Given the description of an element on the screen output the (x, y) to click on. 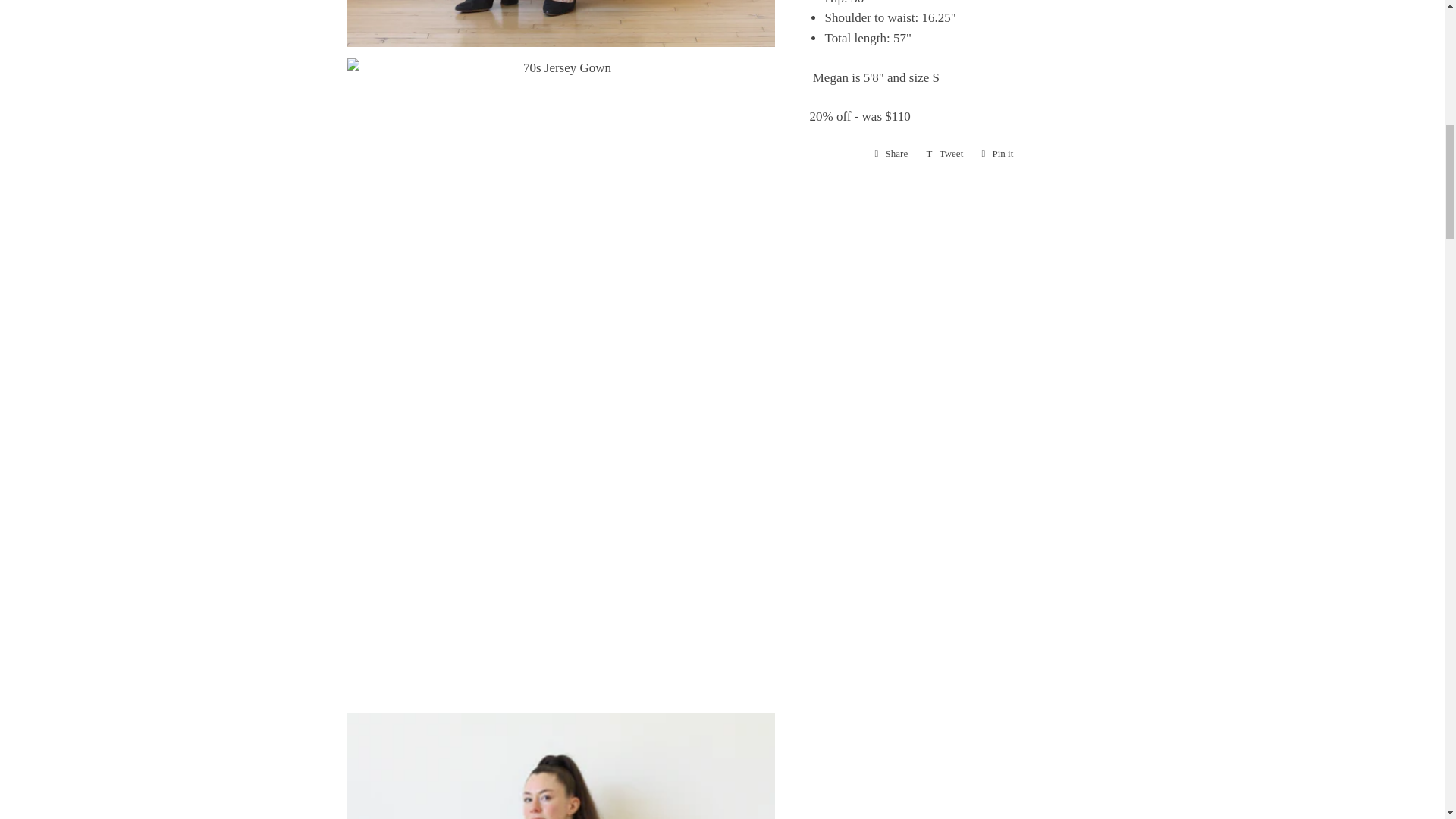
Tweet on Twitter (944, 153)
Share on Facebook (891, 153)
Pin on Pinterest (997, 153)
